Given the description of an element on the screen output the (x, y) to click on. 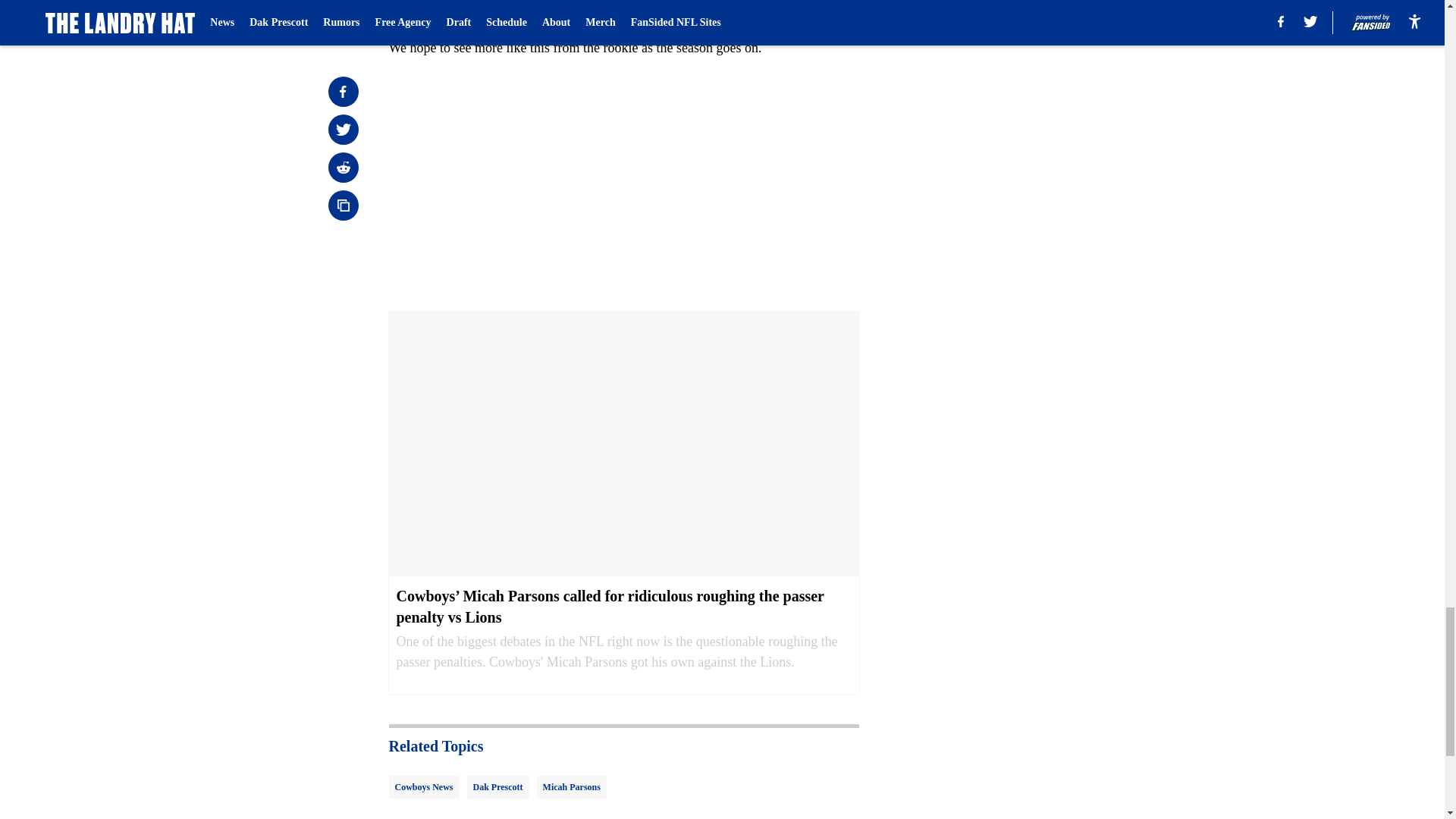
Dak Prescott (498, 786)
Micah Parsons (572, 786)
Quinn loved this guy when he attended Ole Miss Pro Day. (616, 9)
Cowboys News (423, 786)
